Given the description of an element on the screen output the (x, y) to click on. 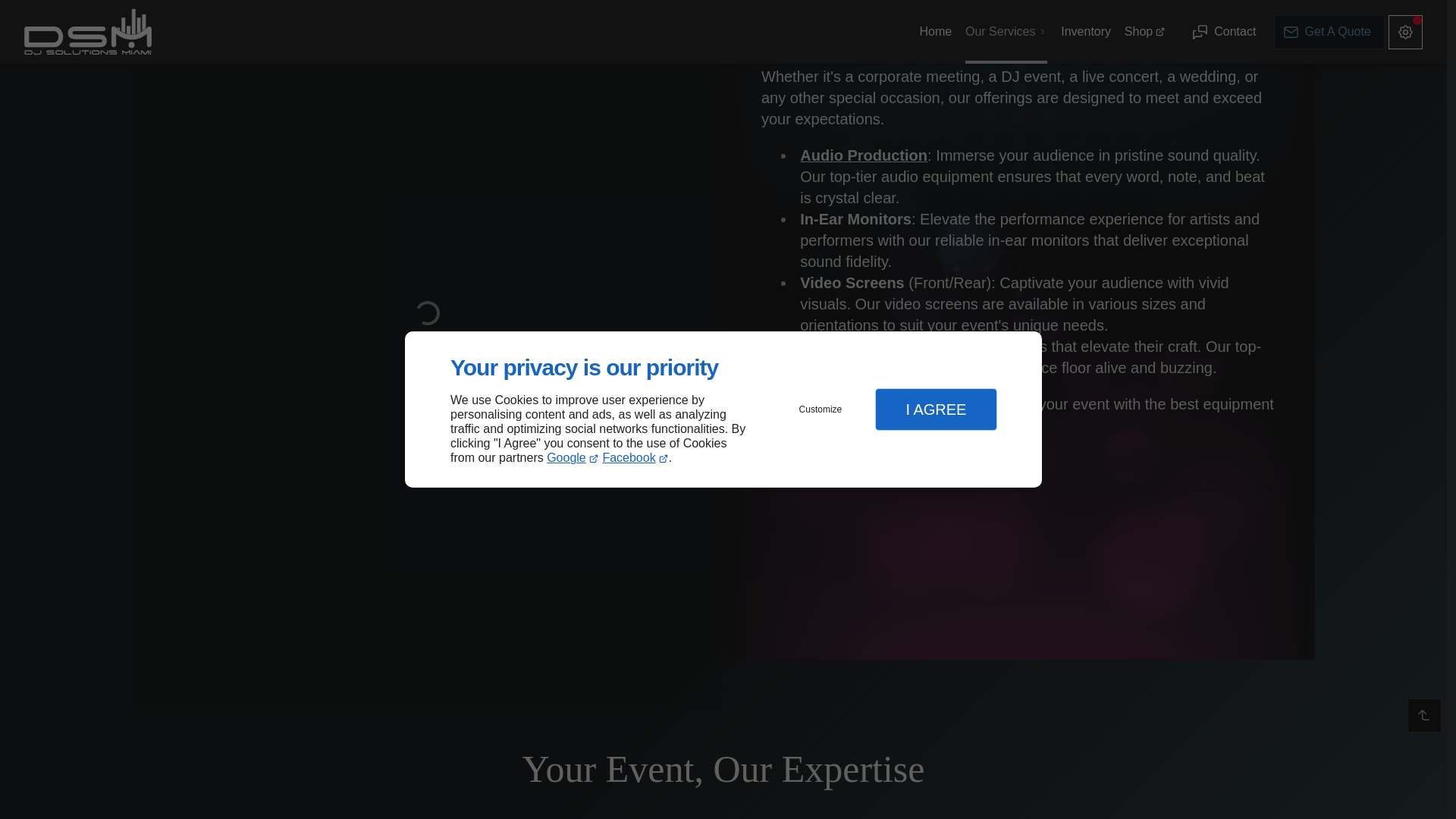
Audio Production (863, 155)
Backline DJ (863, 155)
DJ Equipment (850, 346)
DJ Equipment (850, 346)
